Given the description of an element on the screen output the (x, y) to click on. 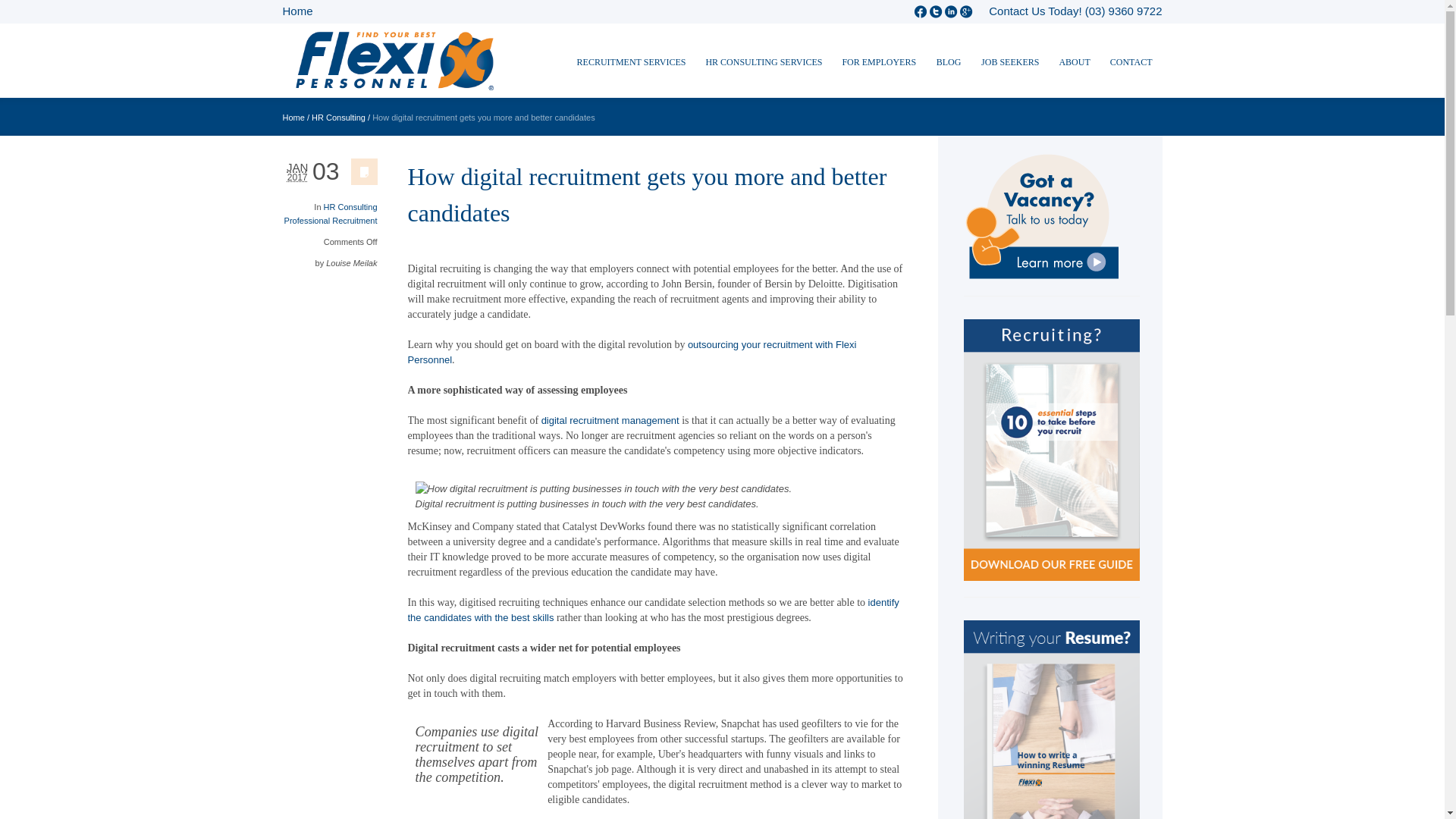
HR CONSULTING SERVICES (763, 60)
HR Consulting (338, 117)
Flexi Personnel (394, 66)
RECRUITMENT SERVICES (631, 60)
Home (297, 10)
January 3, 2017 (310, 171)
JOB SEEKERS (1009, 60)
FOR EMPLOYERS (878, 60)
Contact Us Today! (1034, 11)
Home (293, 117)
